Given the description of an element on the screen output the (x, y) to click on. 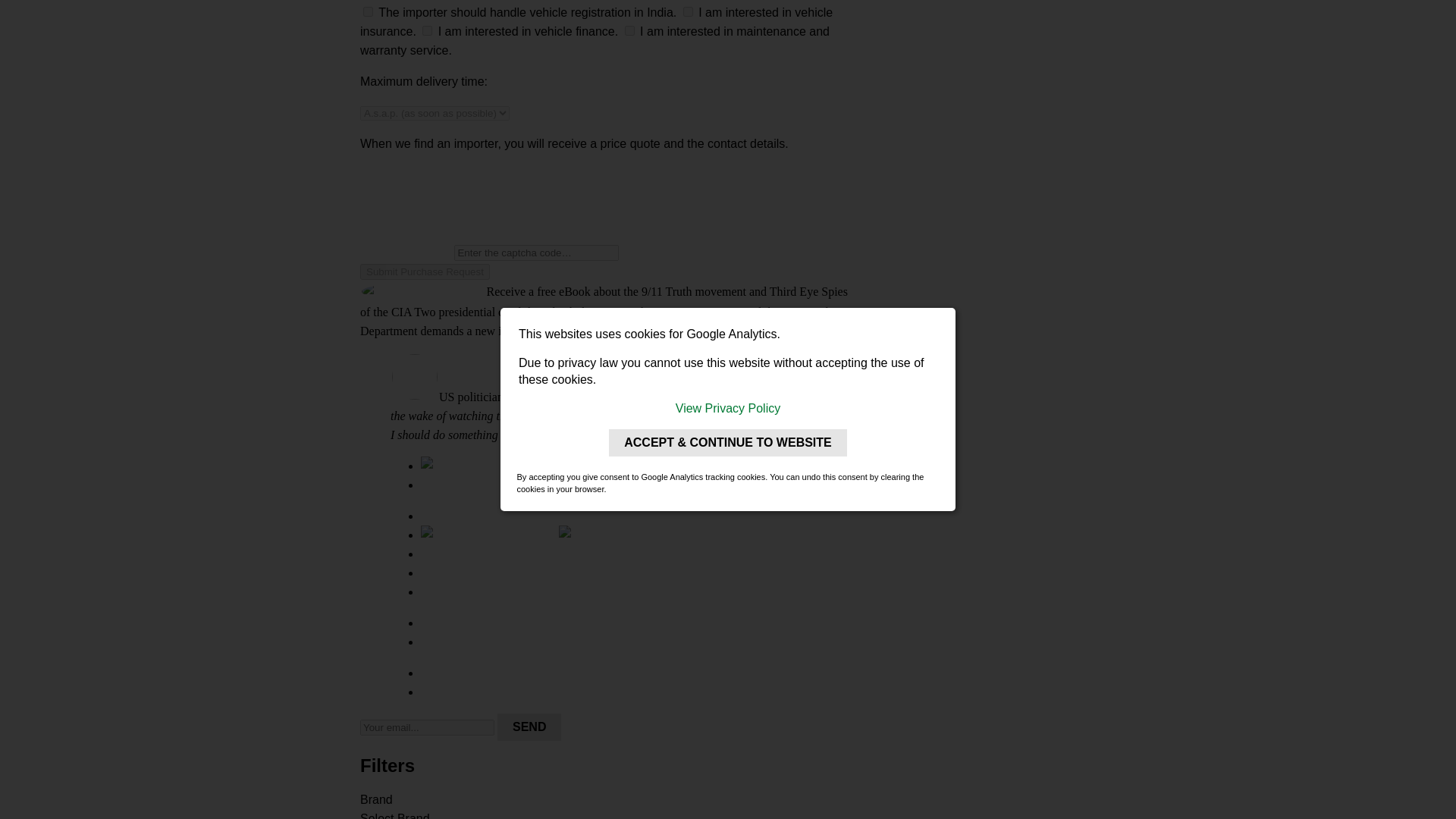
Submit Purchase Request (424, 271)
